Given the description of an element on the screen output the (x, y) to click on. 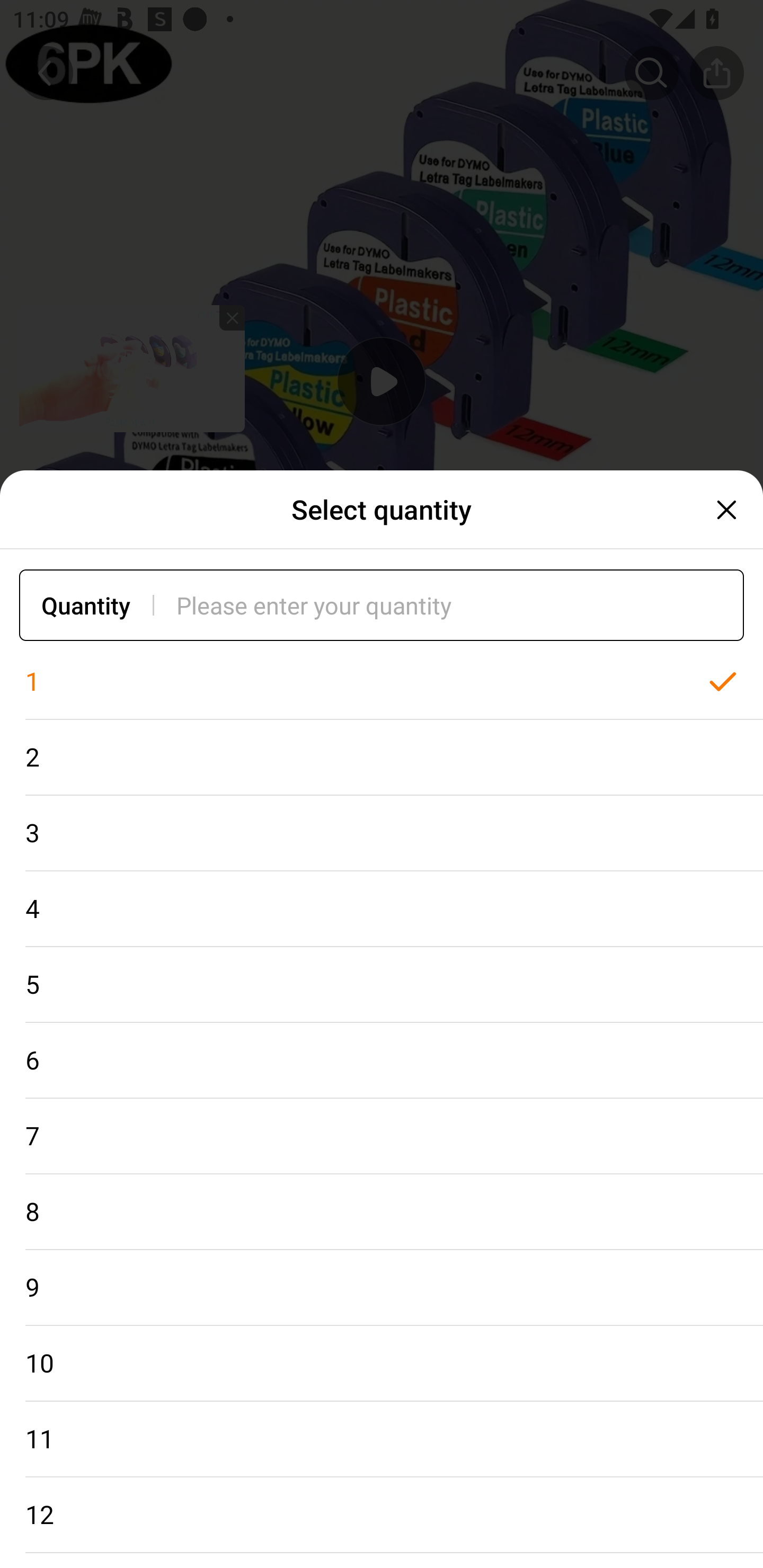
Please enter your quantity (459, 605)
1 (381, 681)
2 (381, 756)
3 (381, 832)
4 (381, 909)
5 (381, 984)
6 (381, 1060)
7 (381, 1136)
8 (381, 1211)
9 (381, 1287)
10 (381, 1363)
11 (381, 1439)
12 (381, 1515)
